Given the description of an element on the screen output the (x, y) to click on. 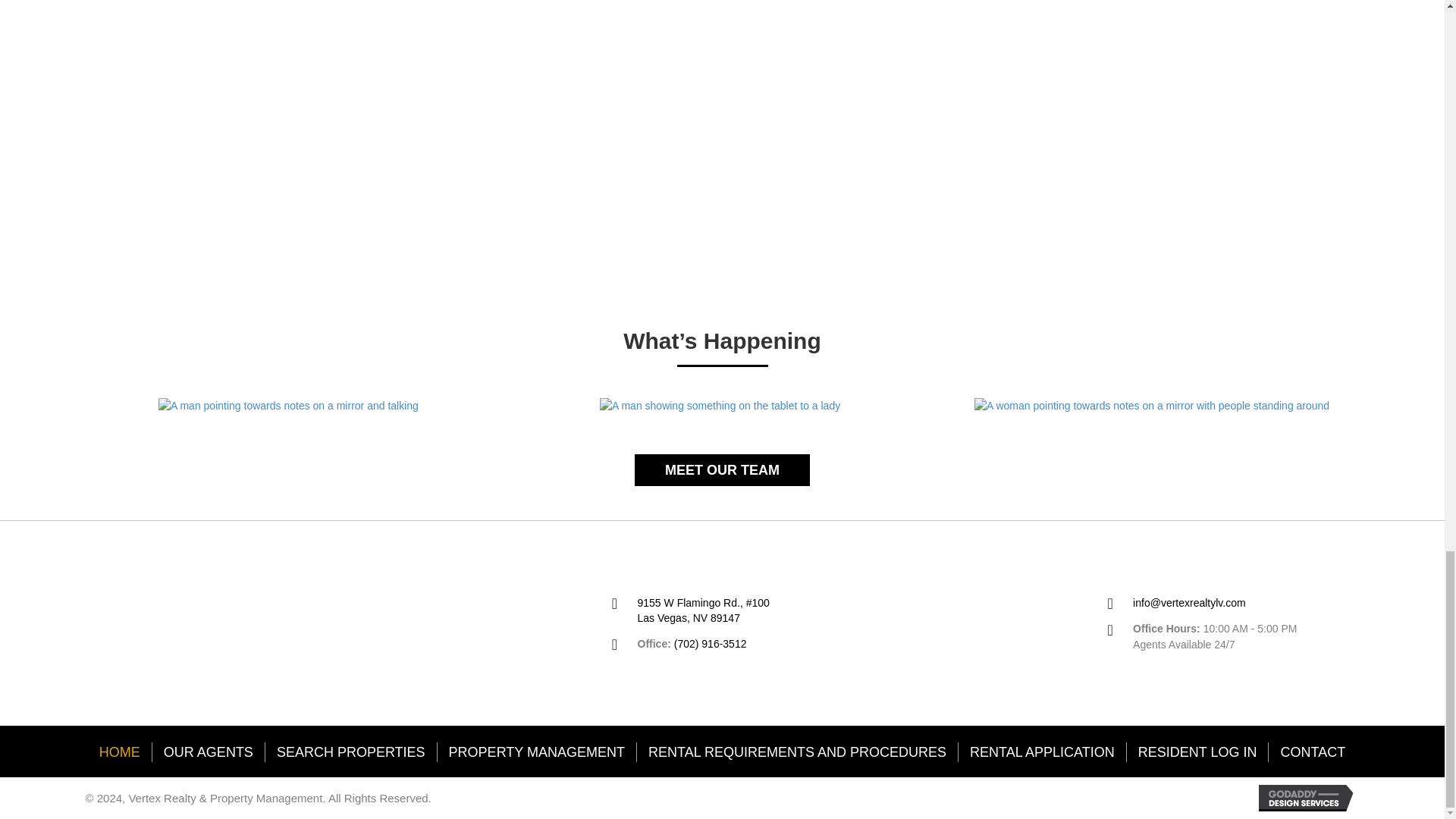
RESIDENT LOG IN (1197, 752)
MEET OUR TEAM (721, 470)
SEARCH PROPERTIES (350, 752)
RENTAL APPLICATION (1041, 752)
HOME (119, 752)
RENTAL REQUIREMENTS AND PROCEDURES (797, 752)
OUR AGENTS (208, 752)
CONTACT (1312, 752)
PROPERTY MANAGEMENT (537, 752)
